Given the description of an element on the screen output the (x, y) to click on. 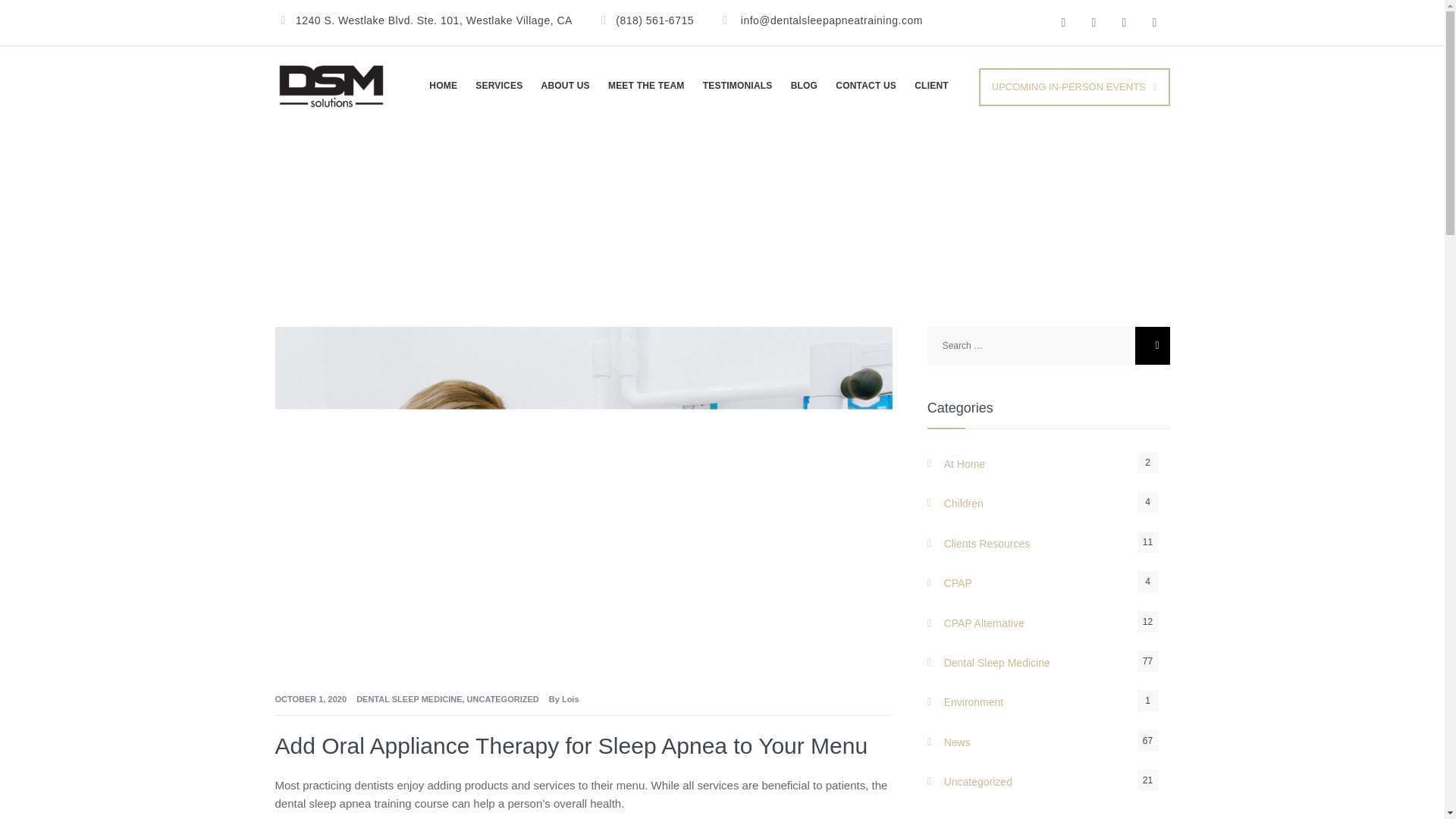
CPAP Alternative (1048, 622)
UNCATEGORIZED (502, 698)
Search (1151, 345)
Children (1048, 503)
DSM Solutions (331, 85)
UPCOMING IN-PERSON EVENTS (1074, 86)
Uncategorized (1048, 781)
CPAP (1048, 582)
News (1048, 742)
Search (1151, 345)
At Home (1048, 464)
MEET THE TEAM (646, 85)
OCTOBER 1, 2020 (310, 698)
Search (1151, 345)
Environment (1048, 701)
